Given the description of an element on the screen output the (x, y) to click on. 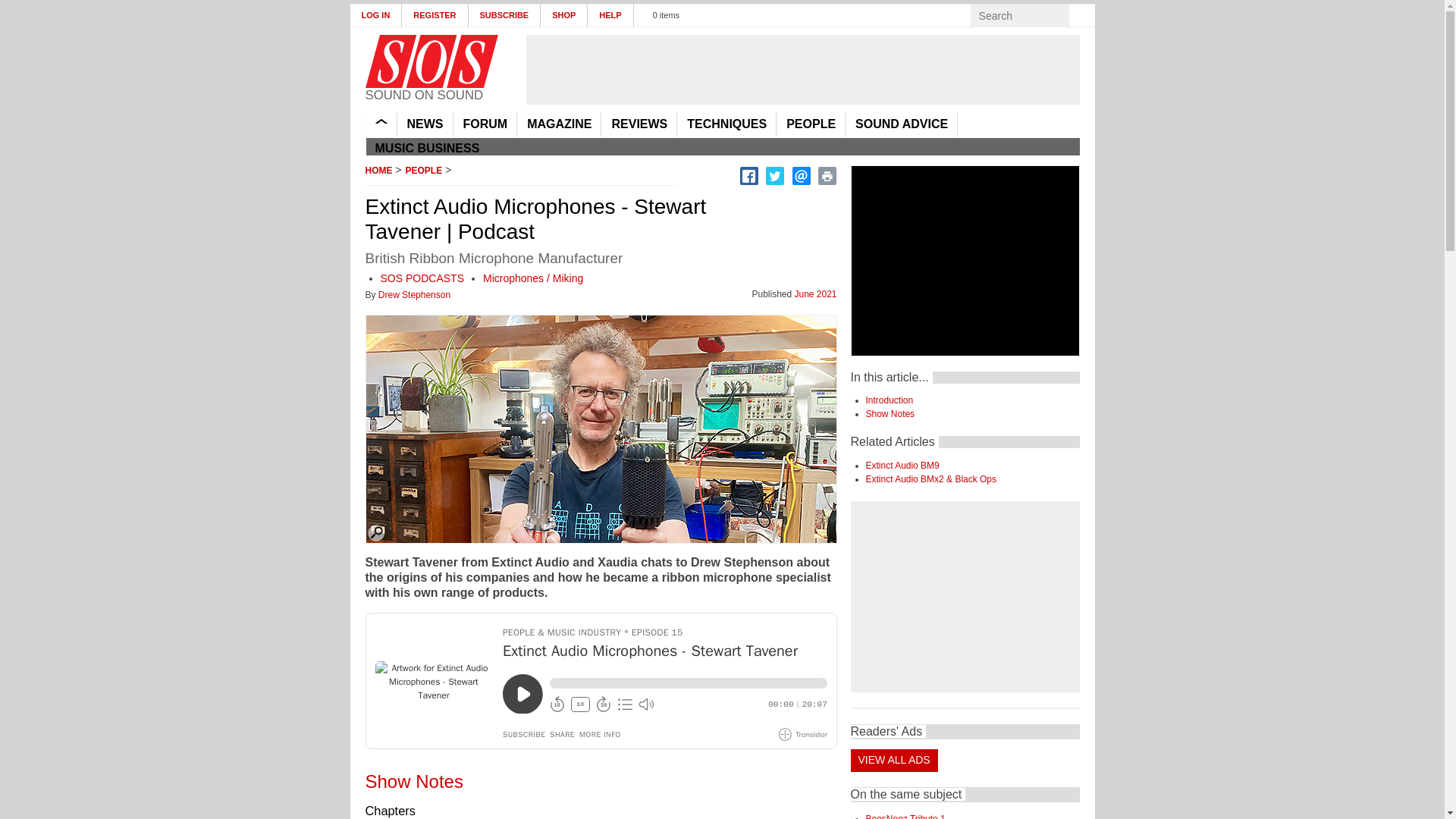
FORUM (484, 124)
HOME (380, 124)
SHOP (564, 15)
REGISTER (434, 15)
REVIEWS (639, 124)
Home (431, 61)
Search (1082, 15)
MAGAZINE (558, 124)
HELP (610, 15)
SUBSCRIBE (504, 15)
